Given the description of an element on the screen output the (x, y) to click on. 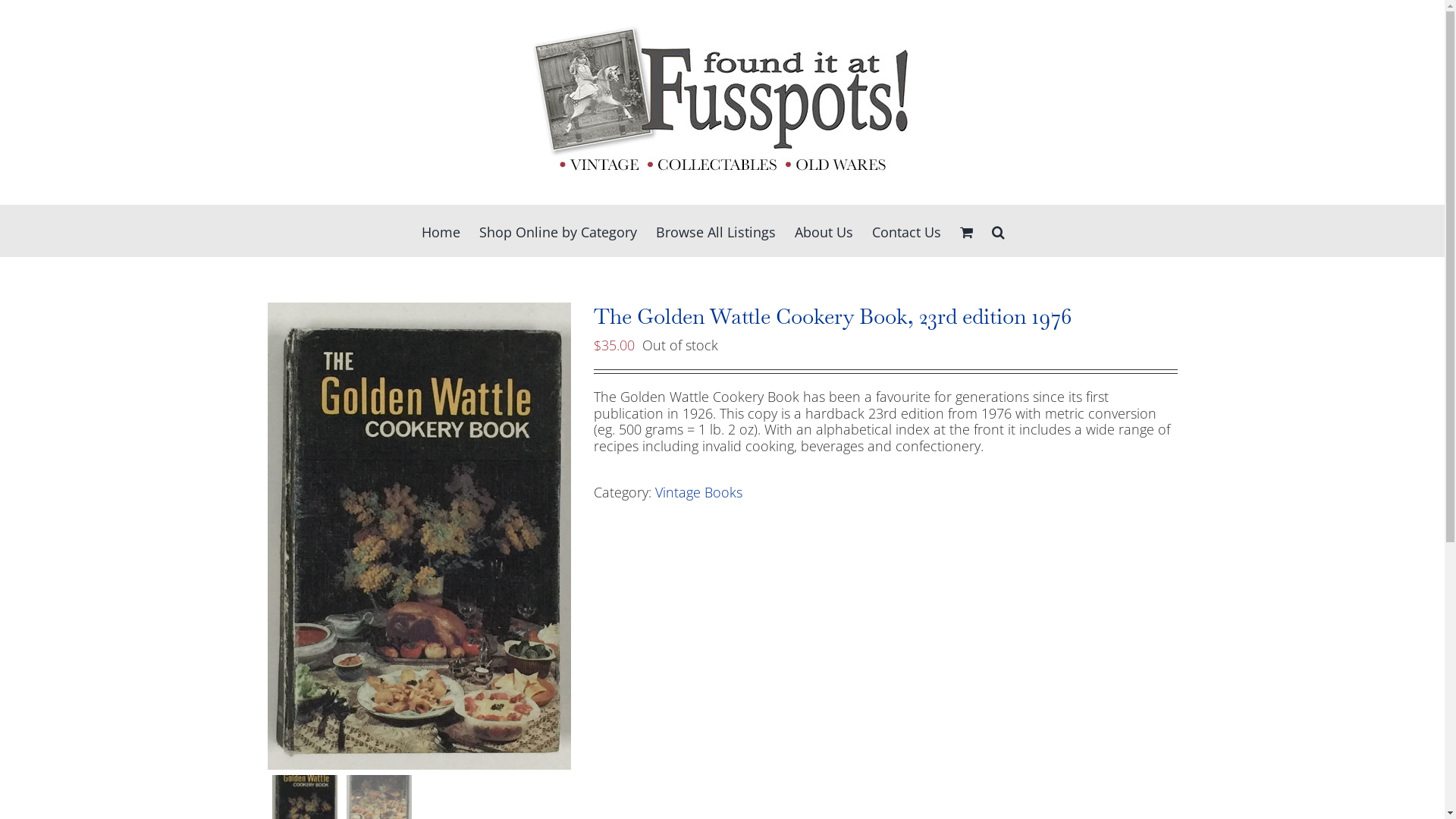
About Us Element type: text (823, 230)
Shop Online by Category Element type: text (558, 230)
Contact Us Element type: text (906, 230)
Golden Wattle front Element type: hover (418, 535)
Search Element type: hover (997, 230)
Browse All Listings Element type: text (715, 230)
Vintage Books Element type: text (698, 492)
Home Element type: text (440, 230)
